Given the description of an element on the screen output the (x, y) to click on. 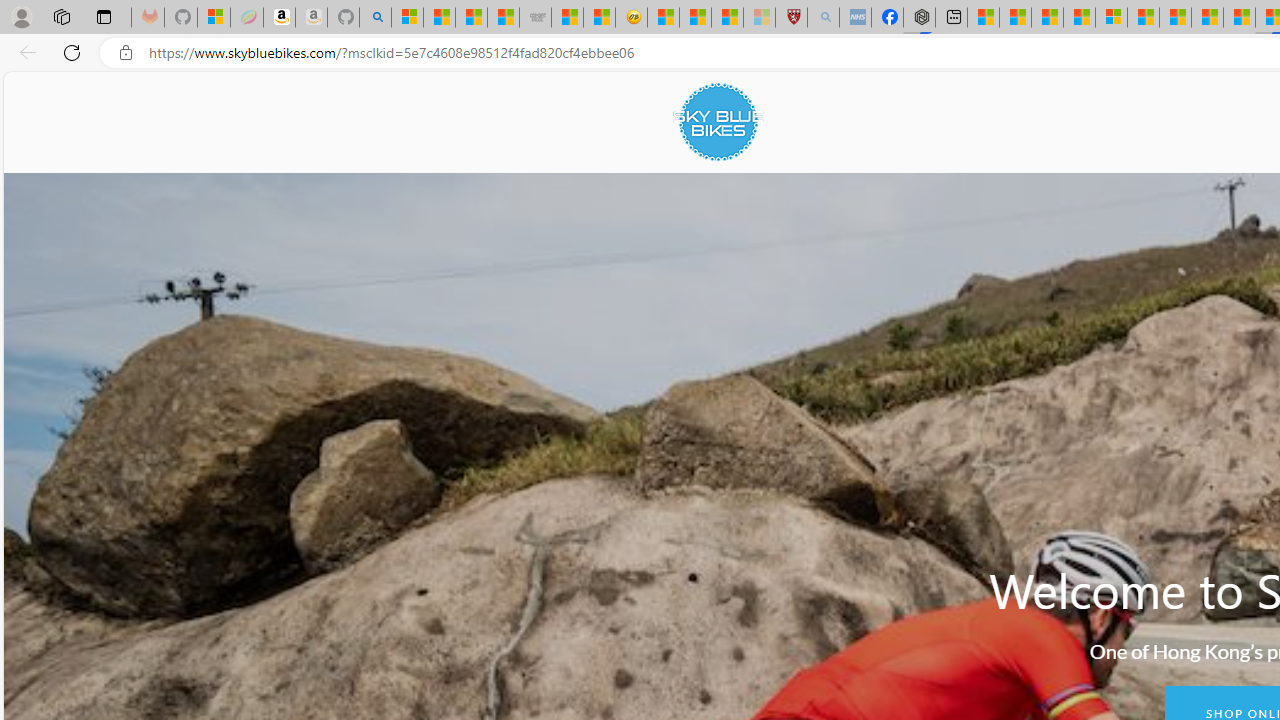
list of asthma inhalers uk - Search - Sleeping (822, 17)
14 Common Myths Debunked By Scientific Facts (1206, 17)
Robert H. Shmerling, MD - Harvard Health (791, 17)
NCL Adult Asthma Inhaler Choice Guideline - Sleeping (855, 17)
Recipes - MSN (663, 17)
